Given the description of an element on the screen output the (x, y) to click on. 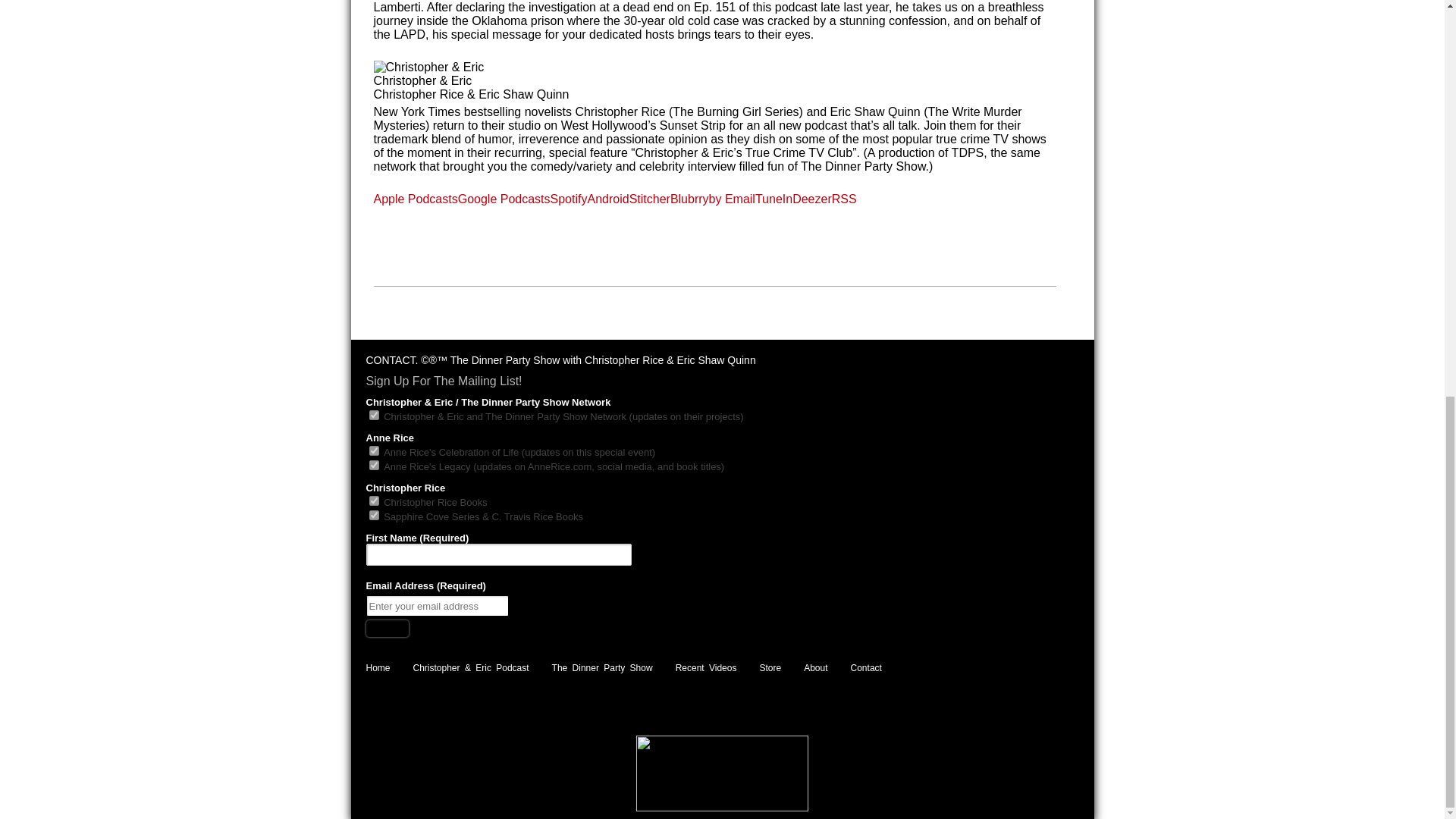
998196a3b9 (373, 501)
b8667d7740 (373, 415)
658cd32ca6 (373, 450)
042dd083f8 (373, 515)
2ae4931c4a (373, 465)
